Given the description of an element on the screen output the (x, y) to click on. 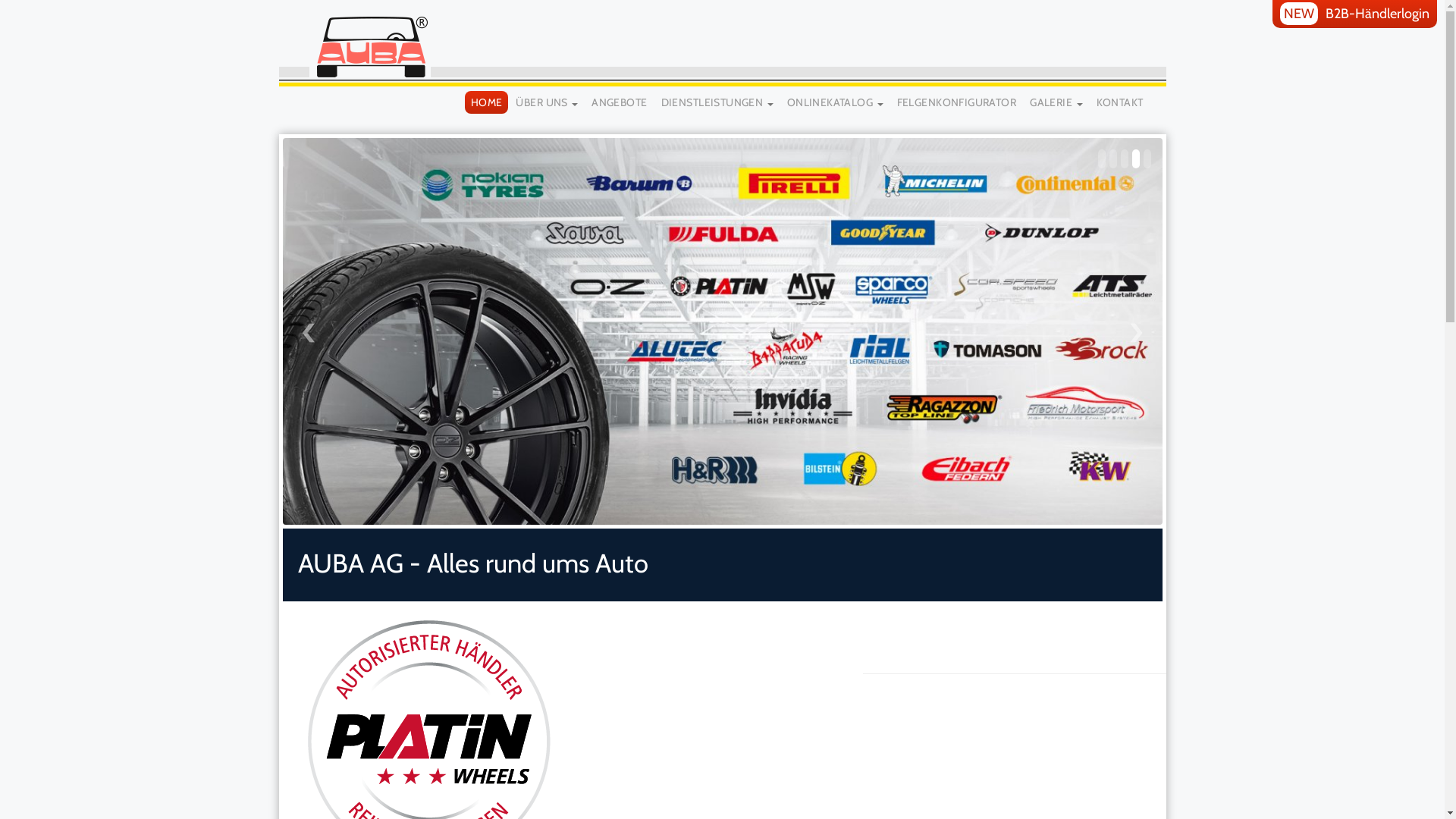
ONLINEKATALOG Element type: text (835, 102)
KONTAKT Element type: text (1119, 102)
ANGEBOTE Element type: text (618, 102)
GALERIE Element type: text (1055, 102)
HOME Element type: text (486, 102)
FELGENKONFIGURATOR Element type: text (956, 102)
DIENSTLEISTUNGEN Element type: text (717, 102)
